Given the description of an element on the screen output the (x, y) to click on. 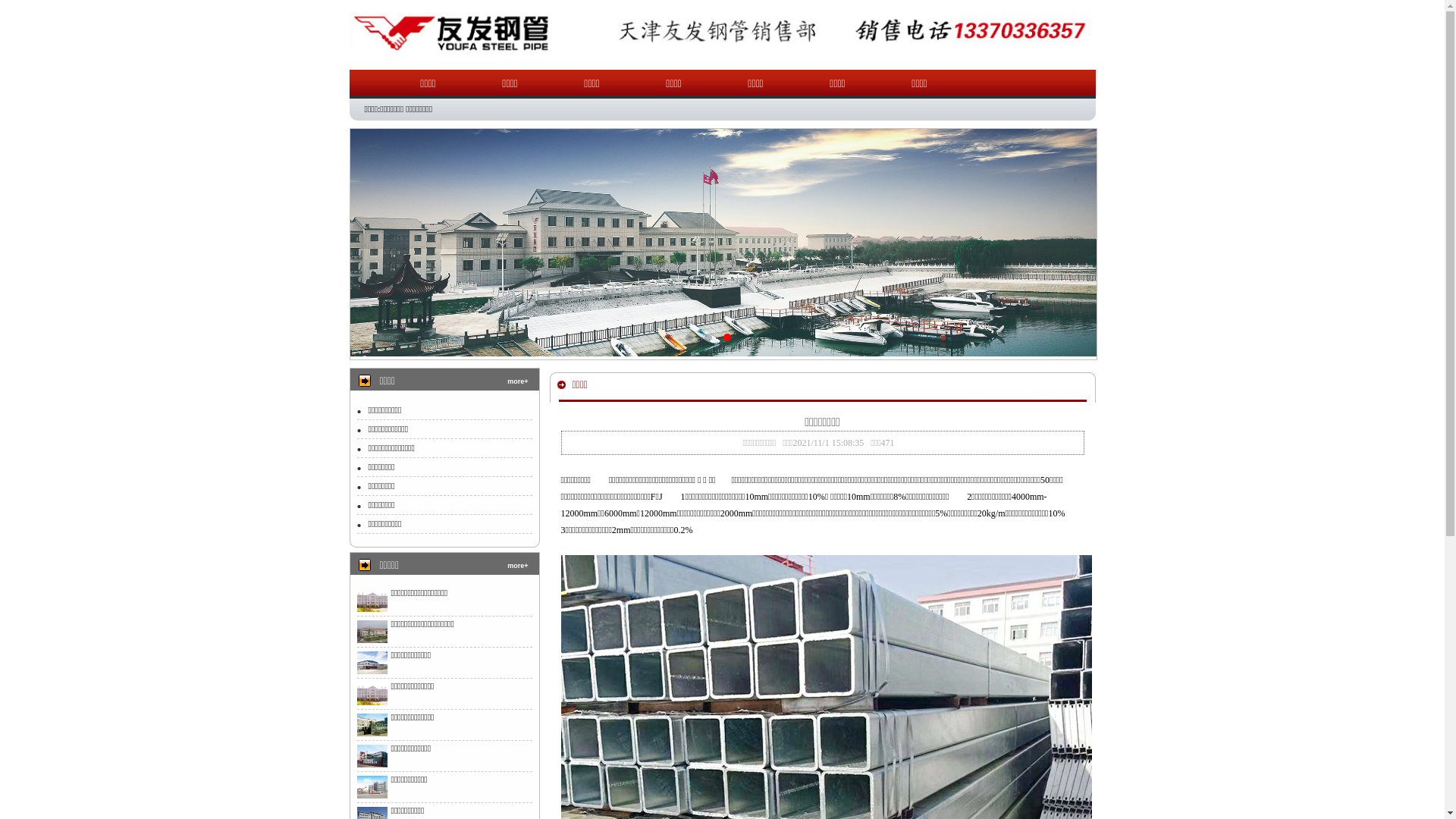
more+ Element type: text (517, 381)
more+ Element type: text (517, 565)
